Given the description of an element on the screen output the (x, y) to click on. 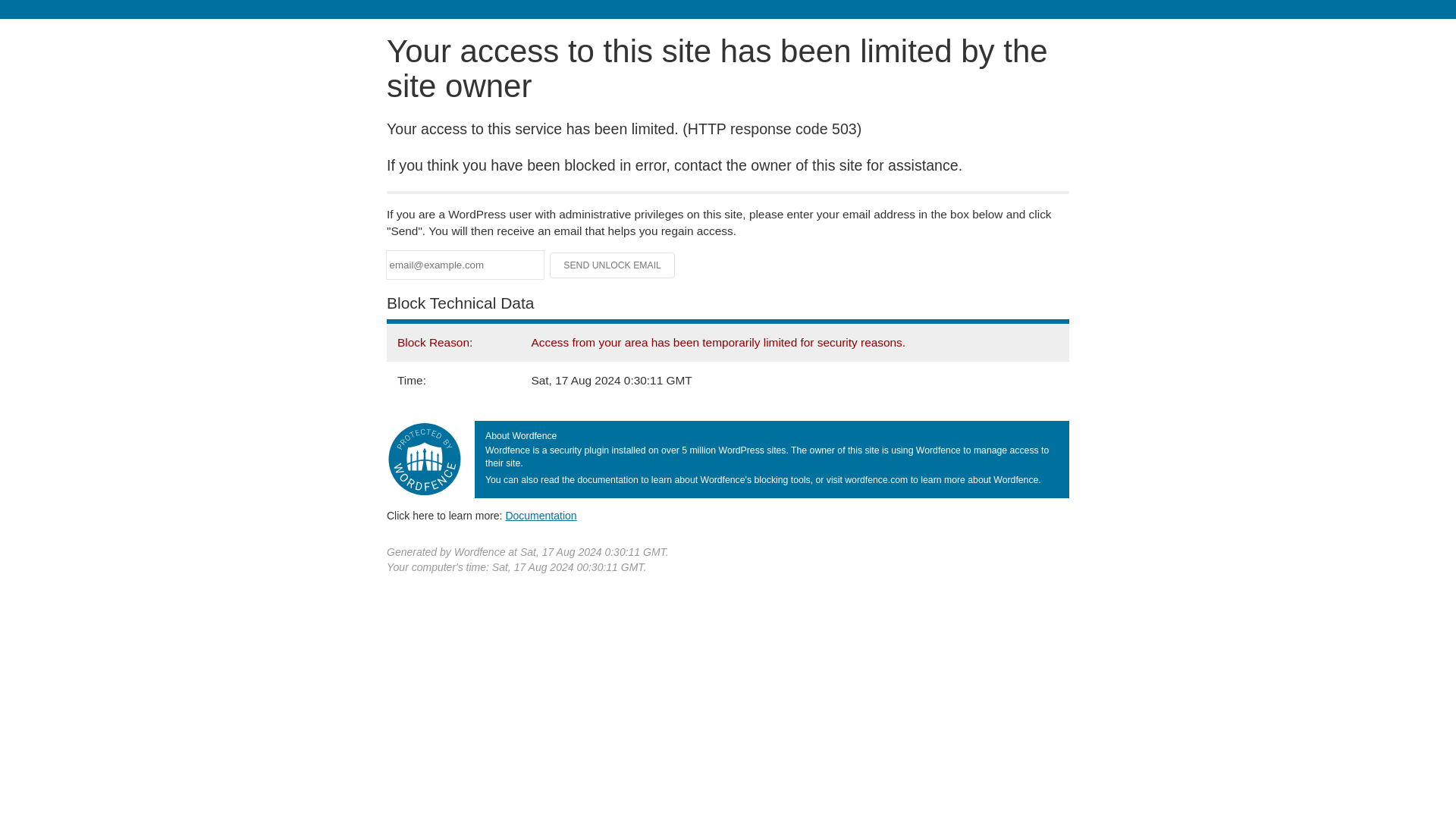
Send Unlock Email (612, 265)
Send Unlock Email (612, 265)
Documentation (540, 515)
